Given the description of an element on the screen output the (x, y) to click on. 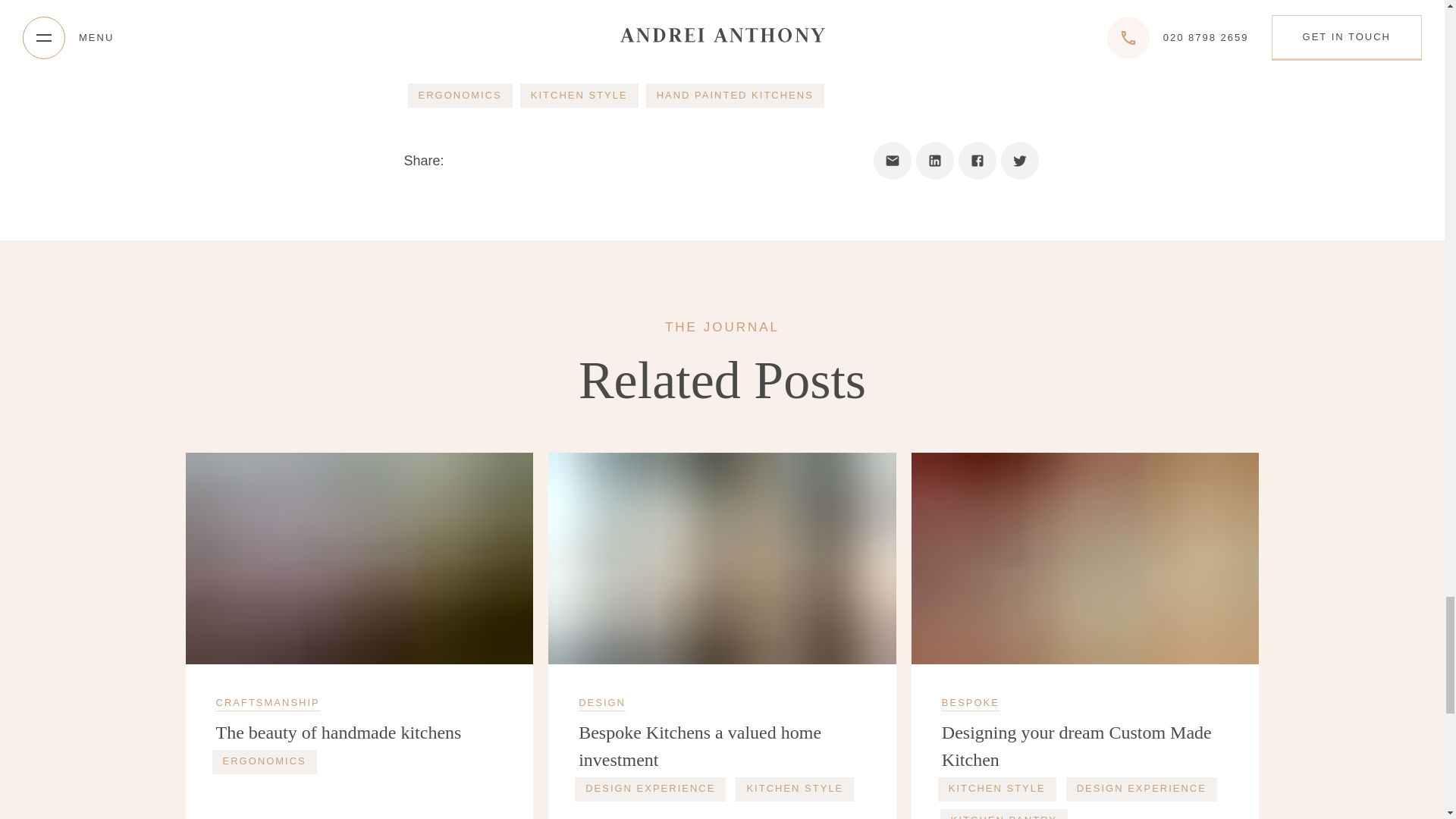
ERGONOMICS (459, 95)
KITCHEN STYLE (997, 789)
KITCHEN STYLE (579, 95)
HAND PAINTED KITCHENS (735, 95)
DESIGN EXPERIENCE (1141, 789)
Bespoke Kitchens a valued home investment (722, 746)
KITCHEN STYLE (794, 789)
CRAFTSMANSHIP (266, 703)
DESIGN EXPERIENCE (650, 789)
BESPOKE (970, 703)
DESIGN (602, 703)
Designing your dream Custom Made Kitchen (1085, 746)
The beauty of handmade kitchens (358, 732)
ERGONOMICS (264, 761)
